Given the description of an element on the screen output the (x, y) to click on. 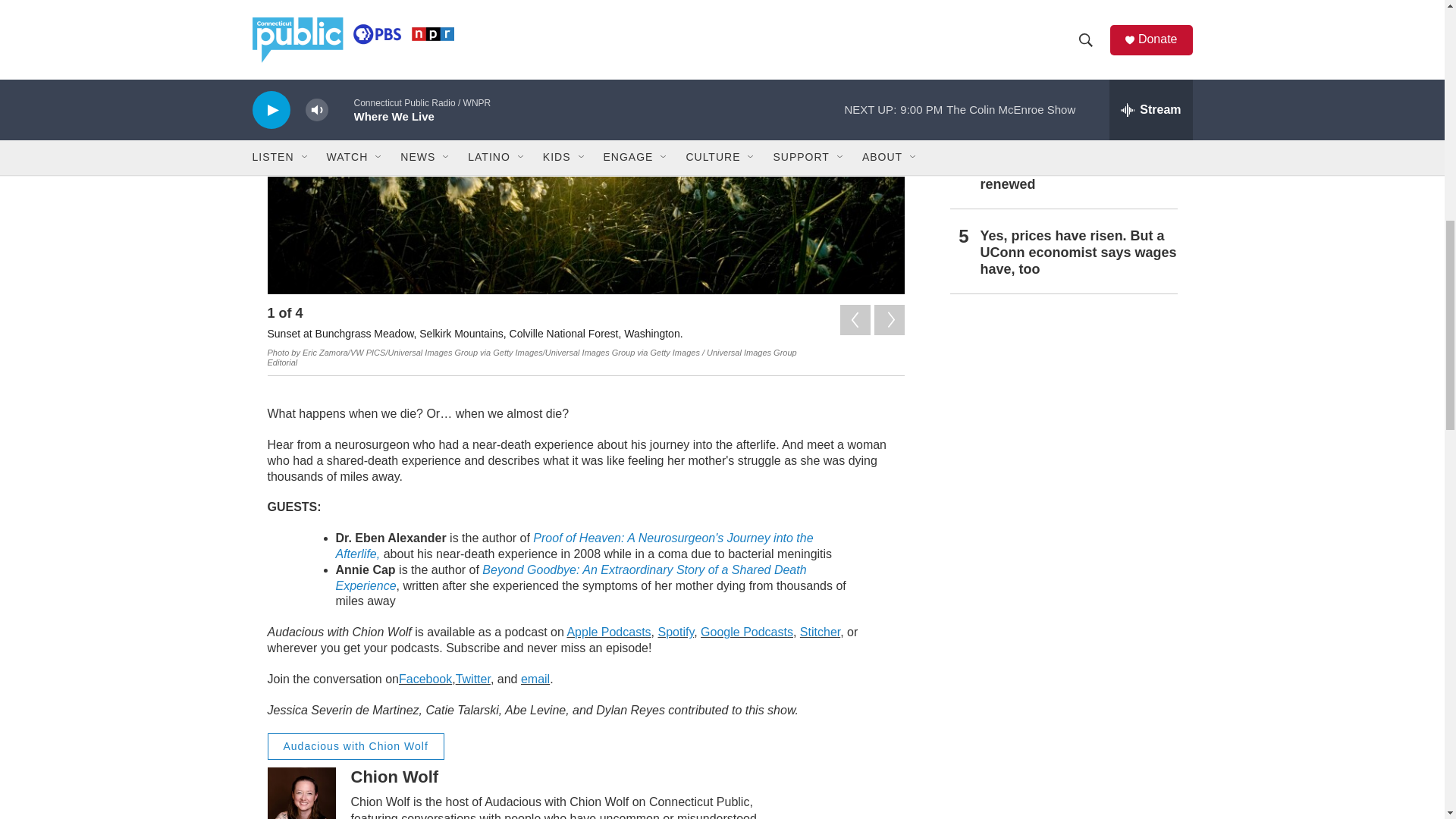
3rd party ad content (1062, 791)
3rd party ad content (1062, 419)
3rd party ad content (1062, 638)
